Given the description of an element on the screen output the (x, y) to click on. 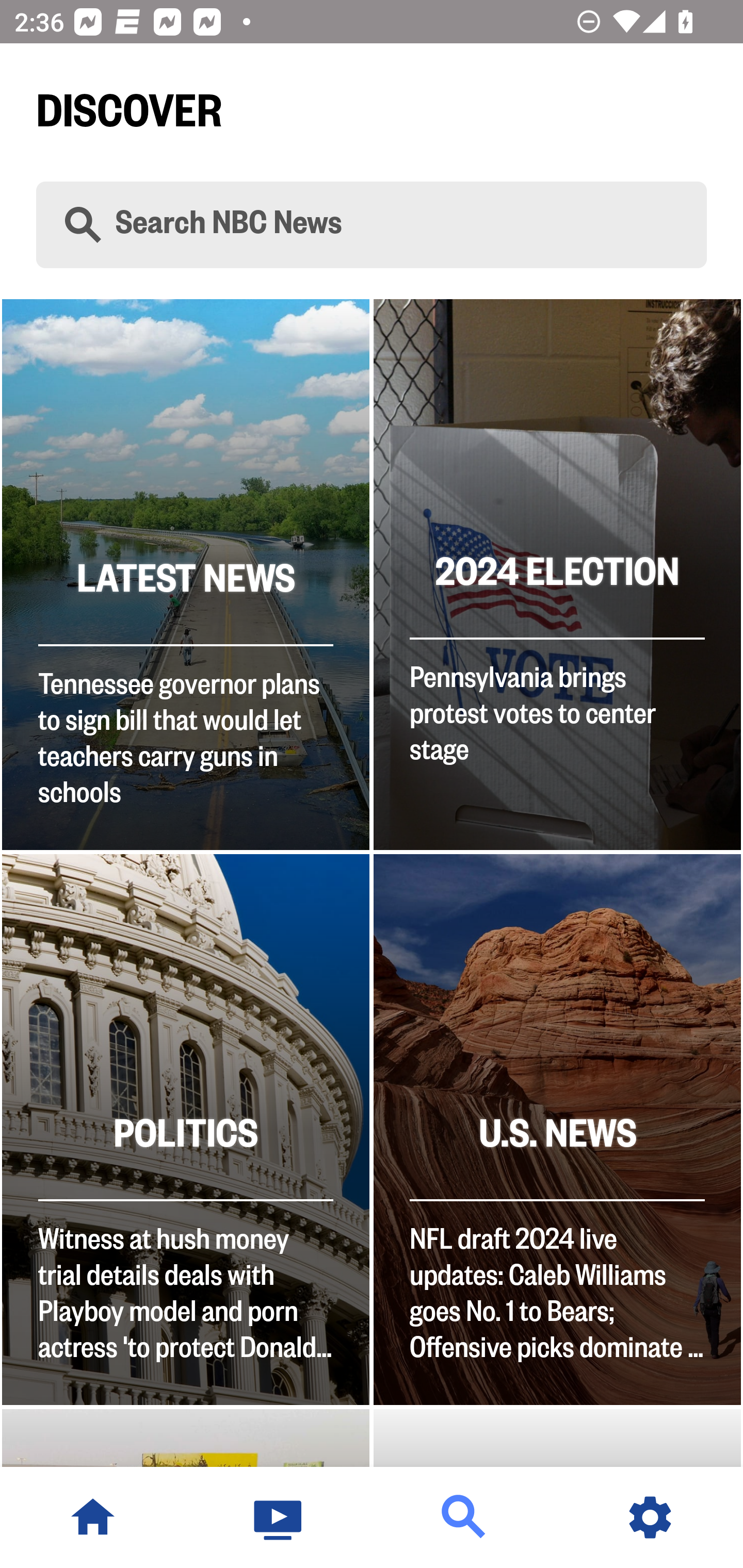
NBC News Home (92, 1517)
Watch (278, 1517)
Settings (650, 1517)
